Given the description of an element on the screen output the (x, y) to click on. 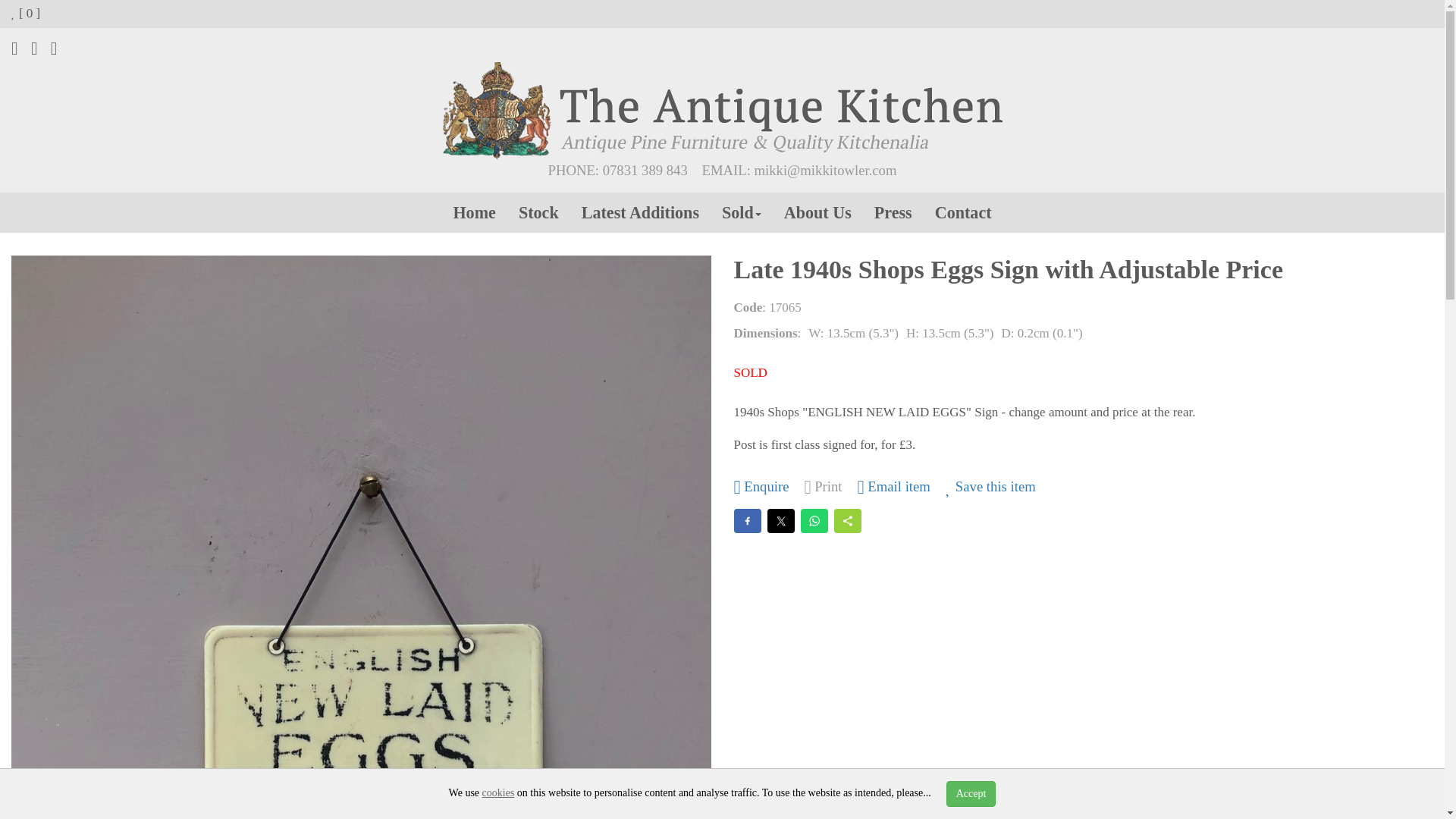
Email item (893, 486)
Stock (538, 212)
Save this item (989, 486)
The Antique Kitchen (722, 110)
Enquire (761, 486)
Home (473, 212)
Press (893, 212)
Latest Additions (640, 212)
Sold (741, 212)
Contact (963, 212)
Print (822, 486)
About Us (818, 212)
